Given the description of an element on the screen output the (x, y) to click on. 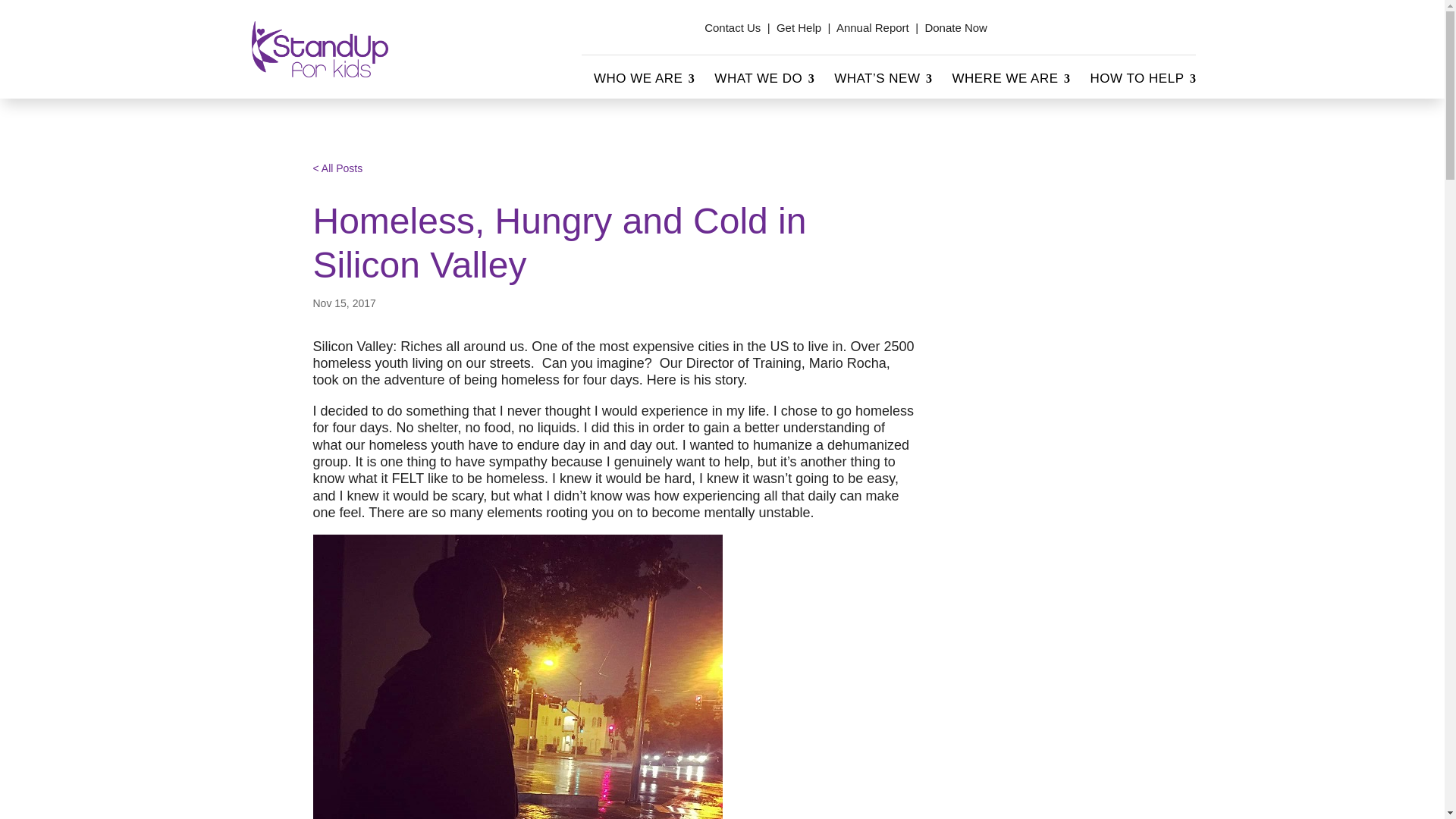
WHAT WE DO (762, 81)
Get Help (798, 27)
Annual Report (871, 27)
WHO WE ARE (642, 81)
stand up for kids logo (319, 48)
Contact Us (732, 27)
WHERE WE ARE (1009, 81)
Donate Now (955, 27)
